Given the description of an element on the screen output the (x, y) to click on. 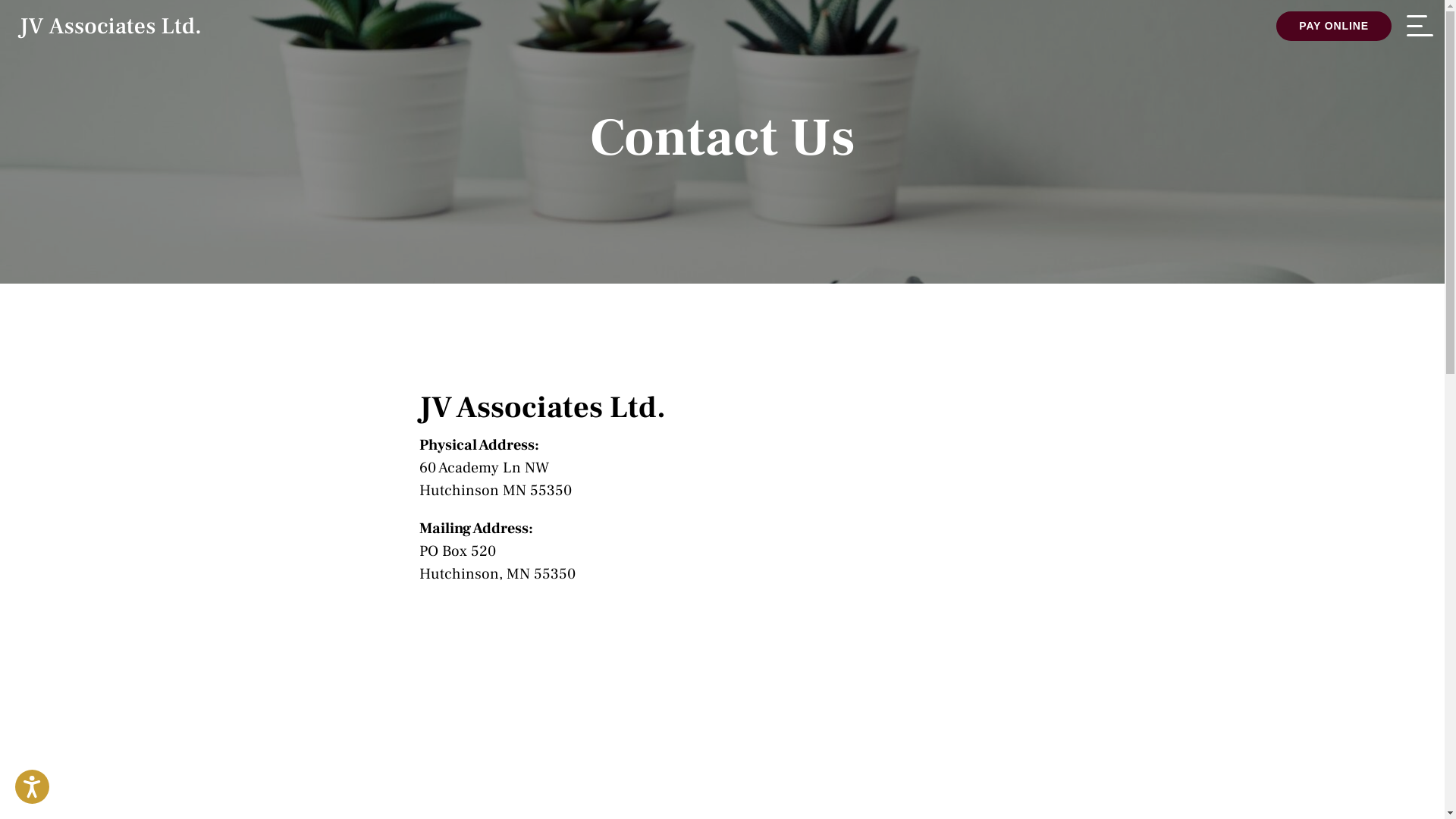
Menu Element type: text (1419, 29)
Pay Online Element type: text (1333, 25)
